Given the description of an element on the screen output the (x, y) to click on. 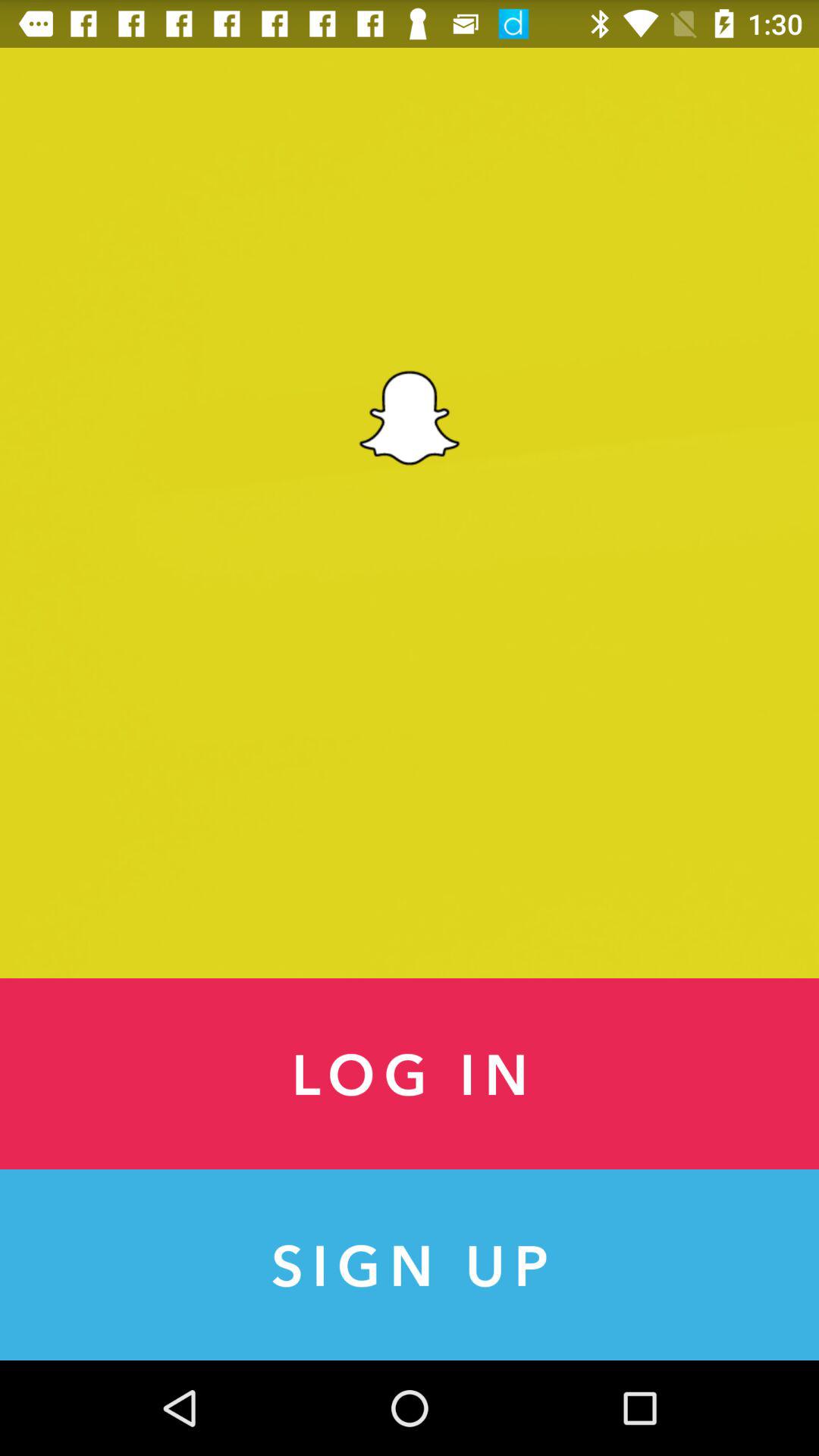
select item below log in icon (409, 1264)
